Given the description of an element on the screen output the (x, y) to click on. 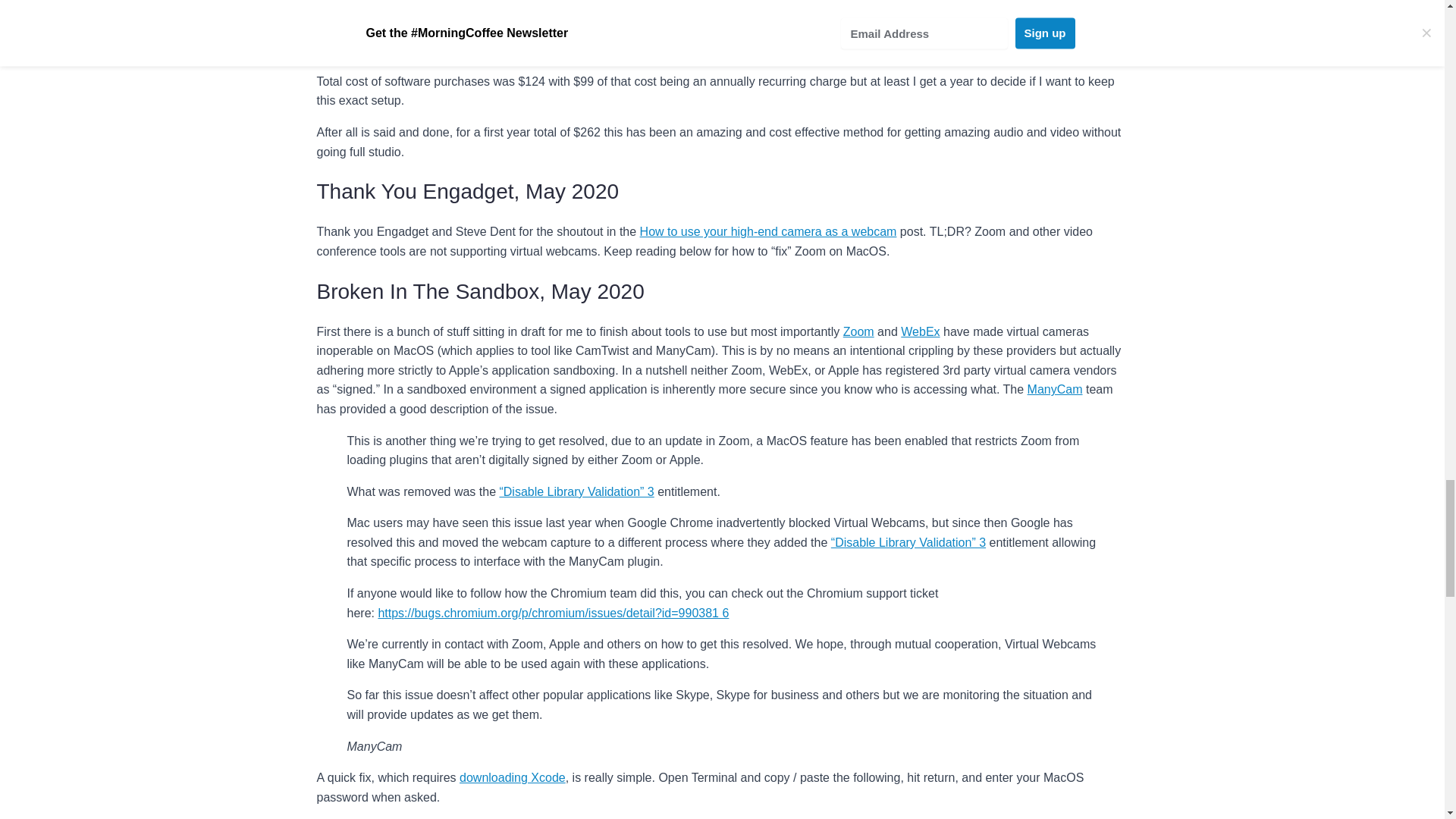
ManyCam (1055, 389)
Zoom (859, 331)
WebEx (920, 331)
How to use your high-end camera as a webcam (768, 231)
